Given the description of an element on the screen output the (x, y) to click on. 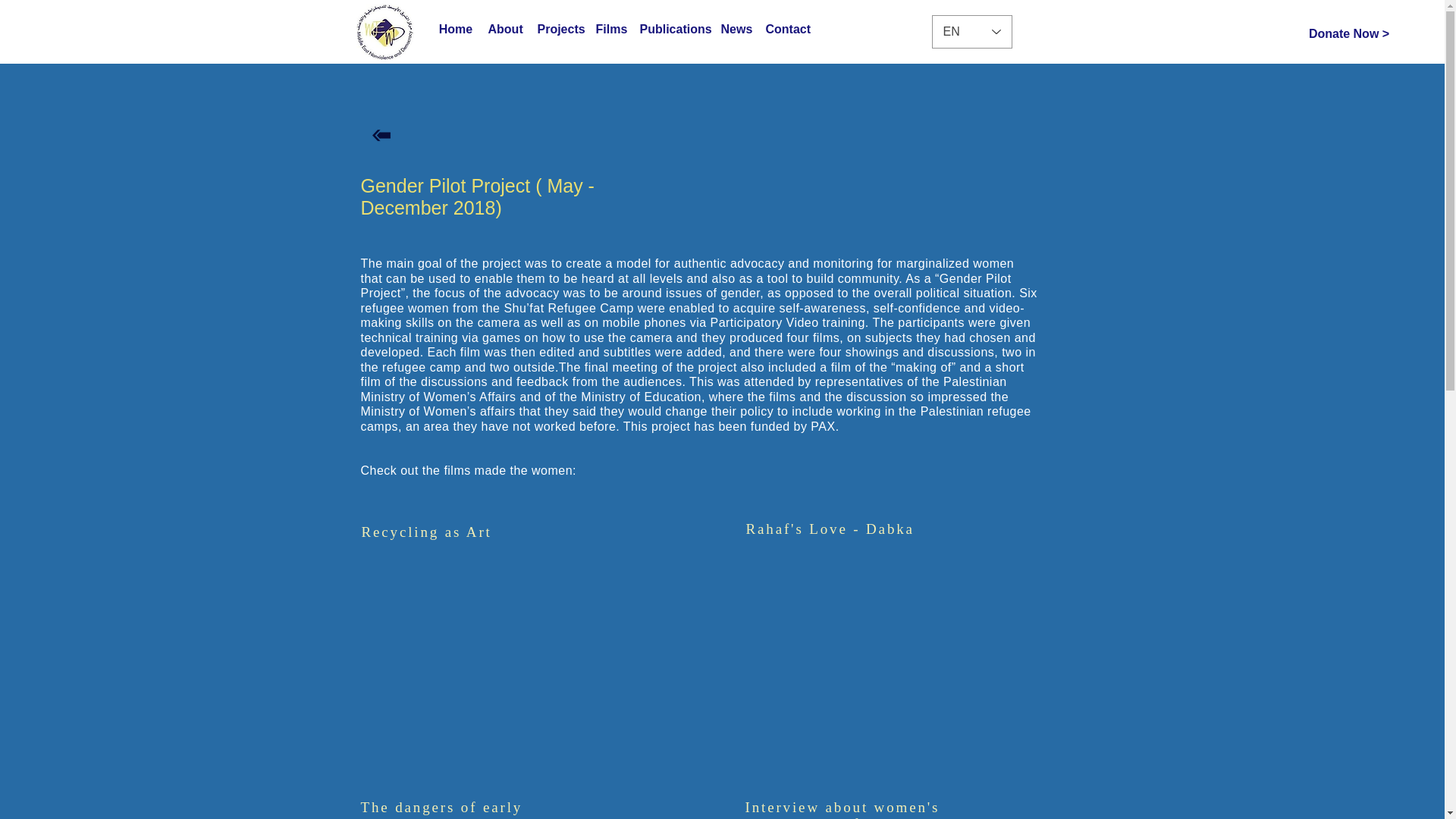
Publications (672, 29)
Contact (786, 29)
Films (609, 29)
News (735, 29)
Home (455, 29)
External YouTube (535, 651)
External YouTube (919, 651)
